Given the description of an element on the screen output the (x, y) to click on. 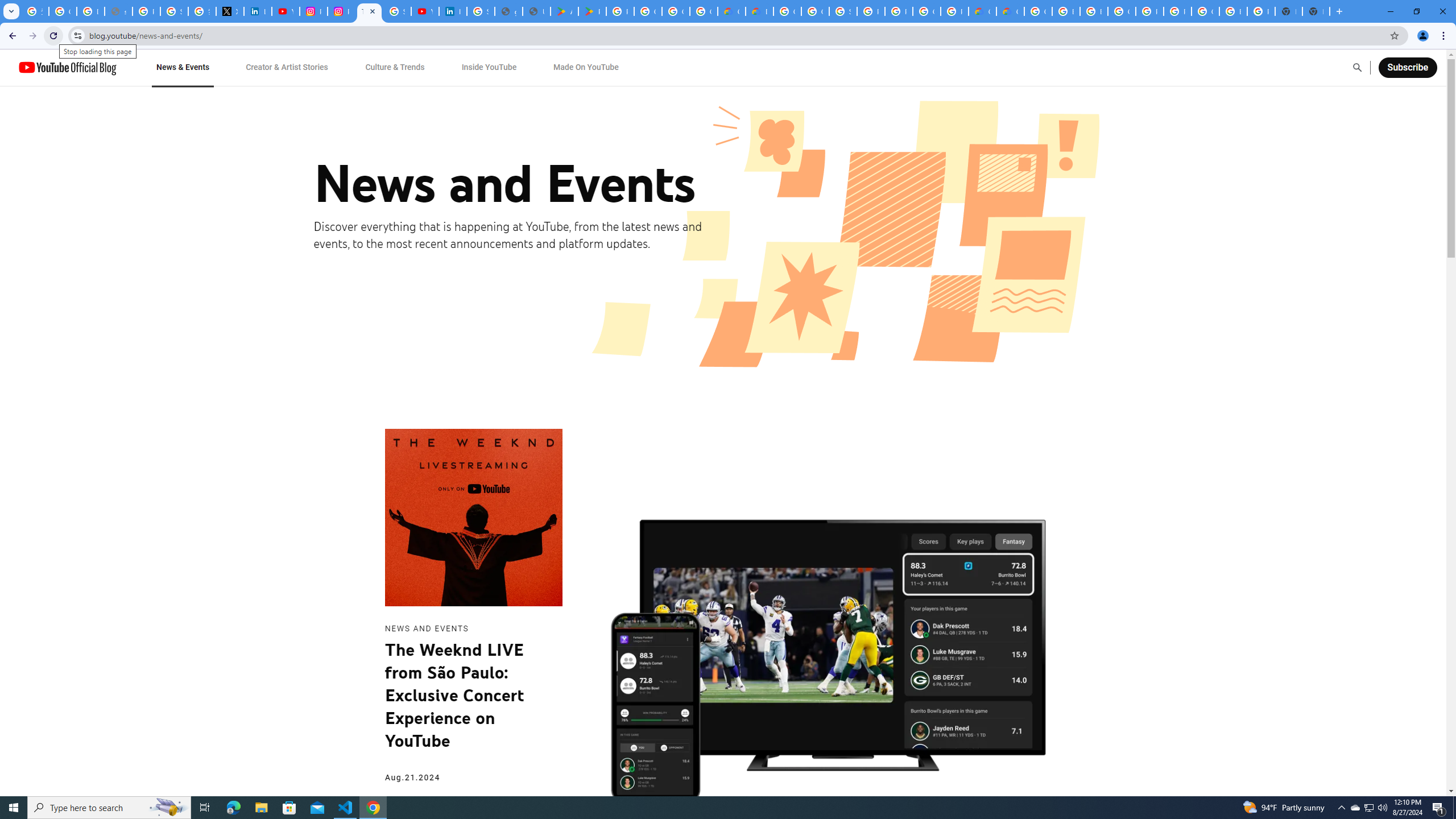
Google Cloud Platform (1205, 11)
New Tab (1316, 11)
User Details (536, 11)
Sign in - Google Accounts (397, 11)
